Given the description of an element on the screen output the (x, y) to click on. 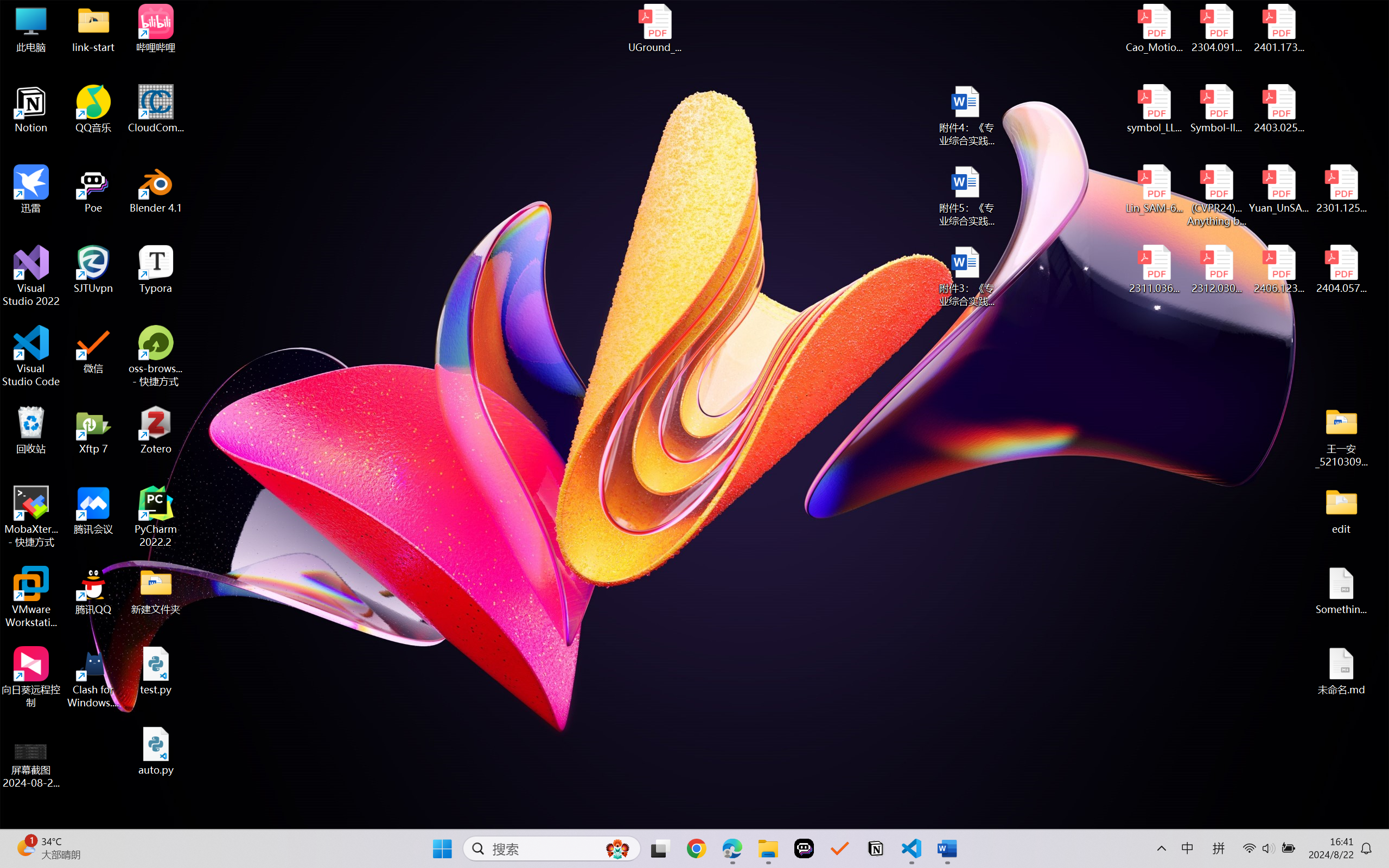
(CVPR24)Matching Anything by Segmenting Anything.pdf (1216, 195)
Typora (156, 269)
2311.03658v2.pdf (1154, 269)
